Given the description of an element on the screen output the (x, y) to click on. 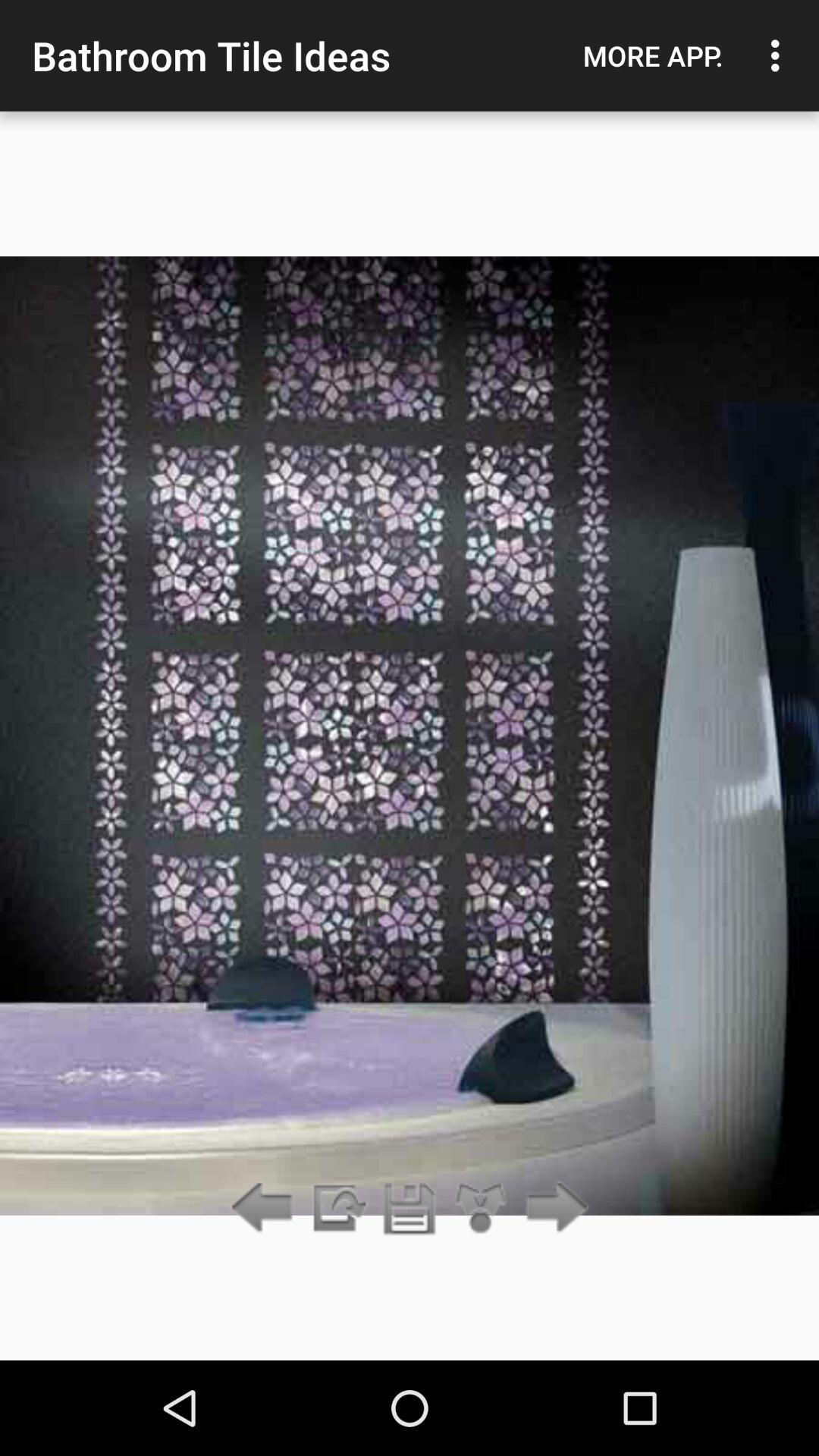
tap app below bathroom tile ideas icon (409, 1208)
